Given the description of an element on the screen output the (x, y) to click on. 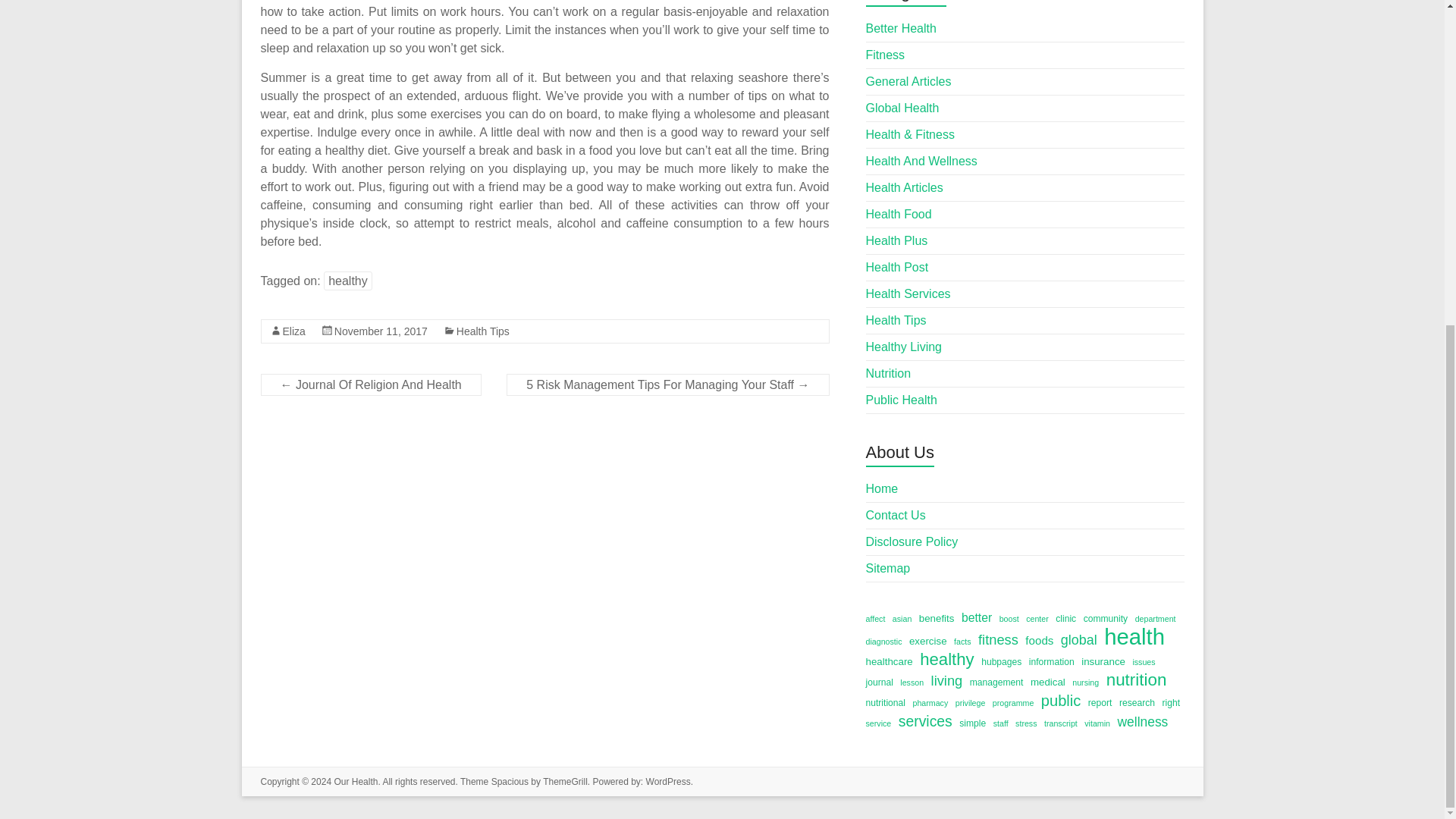
Better Health (901, 28)
Health Plus (897, 240)
General Articles (909, 81)
Health Tips (483, 331)
healthy (347, 280)
WordPress (668, 781)
Eliza (293, 331)
Health And Wellness (921, 160)
10:15 pm (381, 331)
Health Articles (904, 187)
Fitness (885, 54)
Global Health (902, 107)
November 11, 2017 (381, 331)
Health Food (898, 214)
Spacious (510, 781)
